Given the description of an element on the screen output the (x, y) to click on. 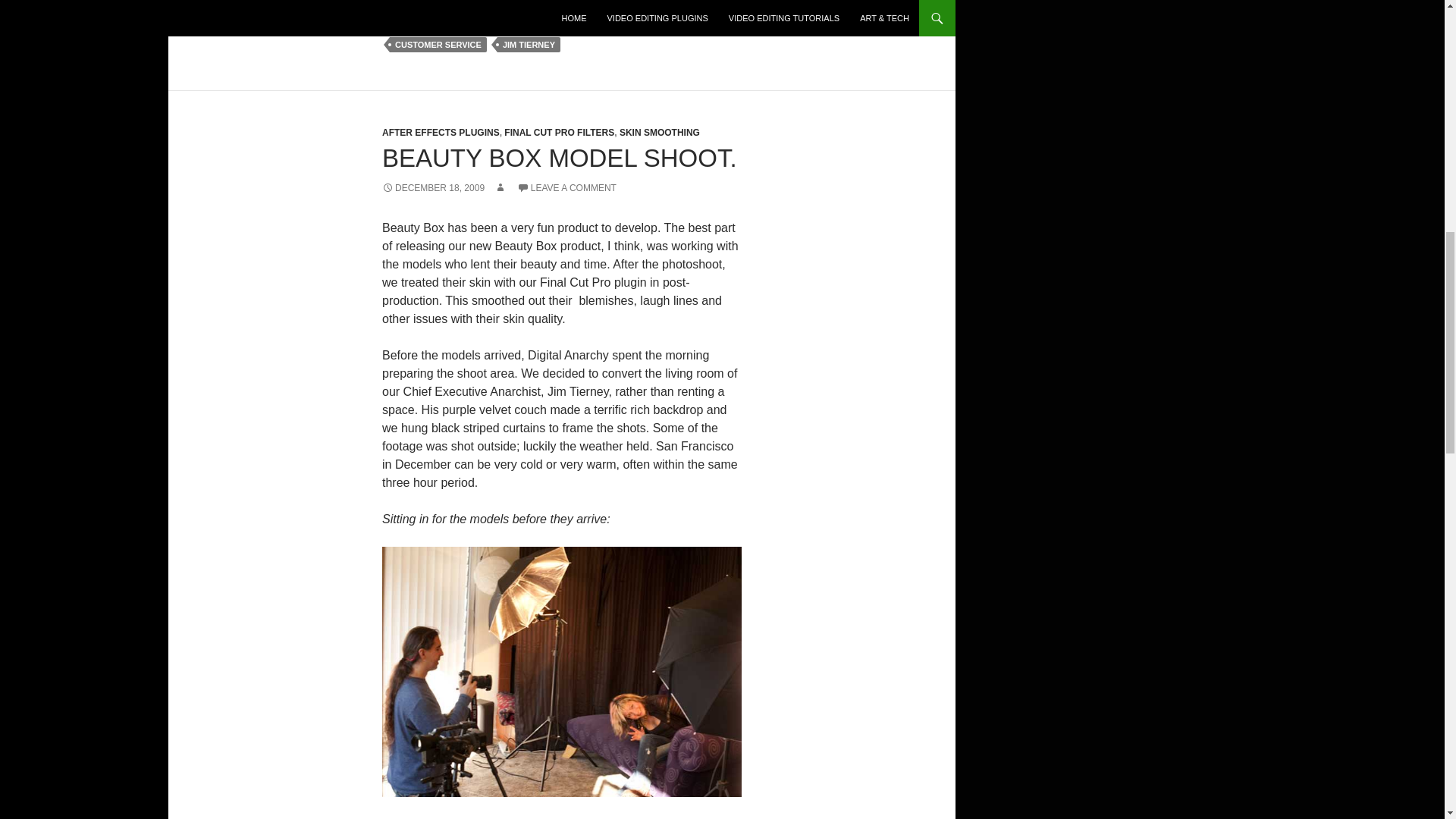
FINAL CUT PRO FILTERS (558, 132)
LEAVE A COMMENT (565, 187)
SKIN SMOOTHING (660, 132)
JIM TIERNEY (528, 43)
DECEMBER 18, 2009 (432, 187)
121609-bbox-preshootdeb (561, 671)
AFTER EFFECTS PLUGINS (440, 132)
BEAUTY BOX MODEL SHOOT. (558, 157)
CUSTOMER SERVICE (438, 43)
